Given the description of an element on the screen output the (x, y) to click on. 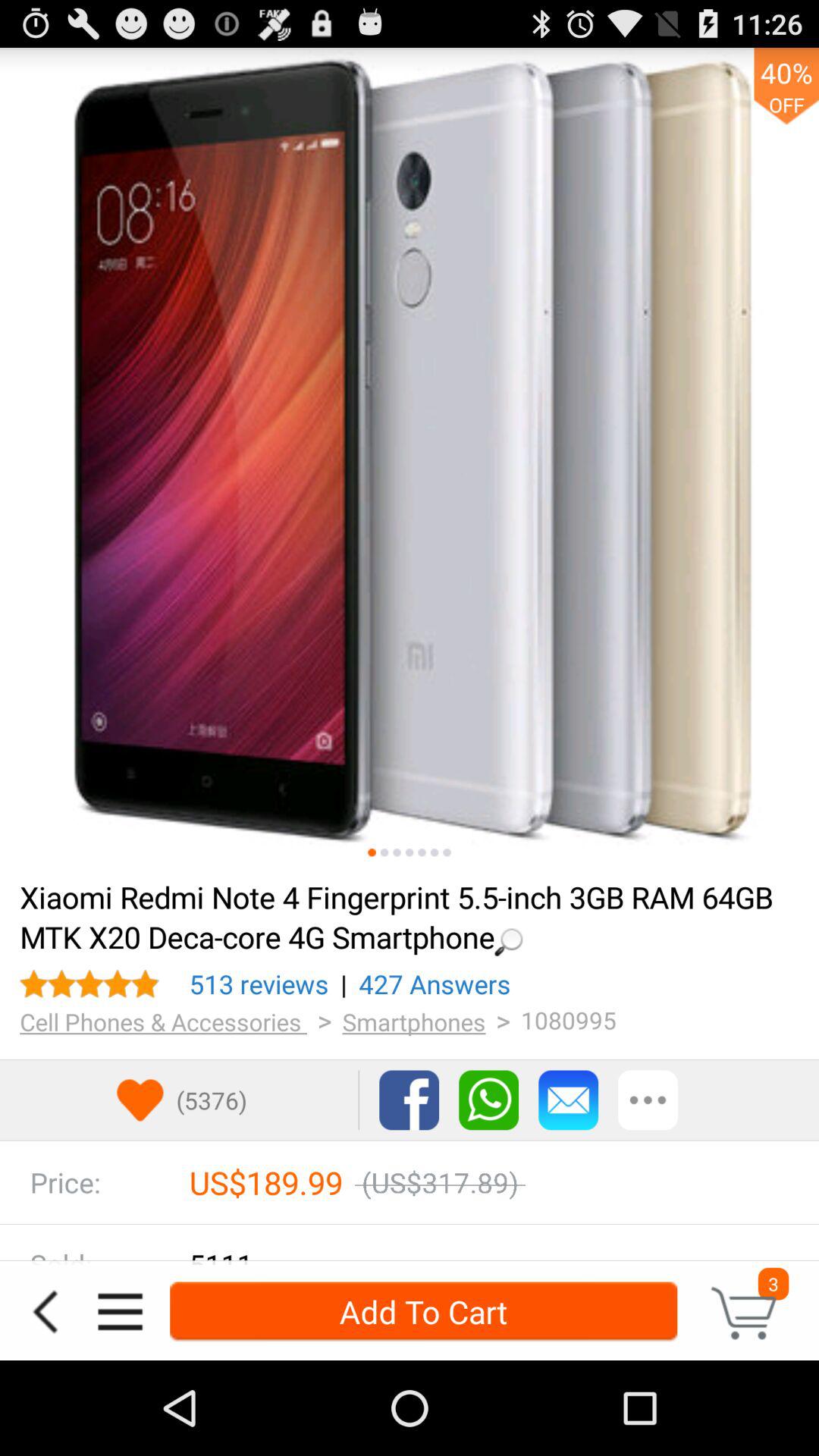
photo of the phone (371, 852)
